Given the description of an element on the screen output the (x, y) to click on. 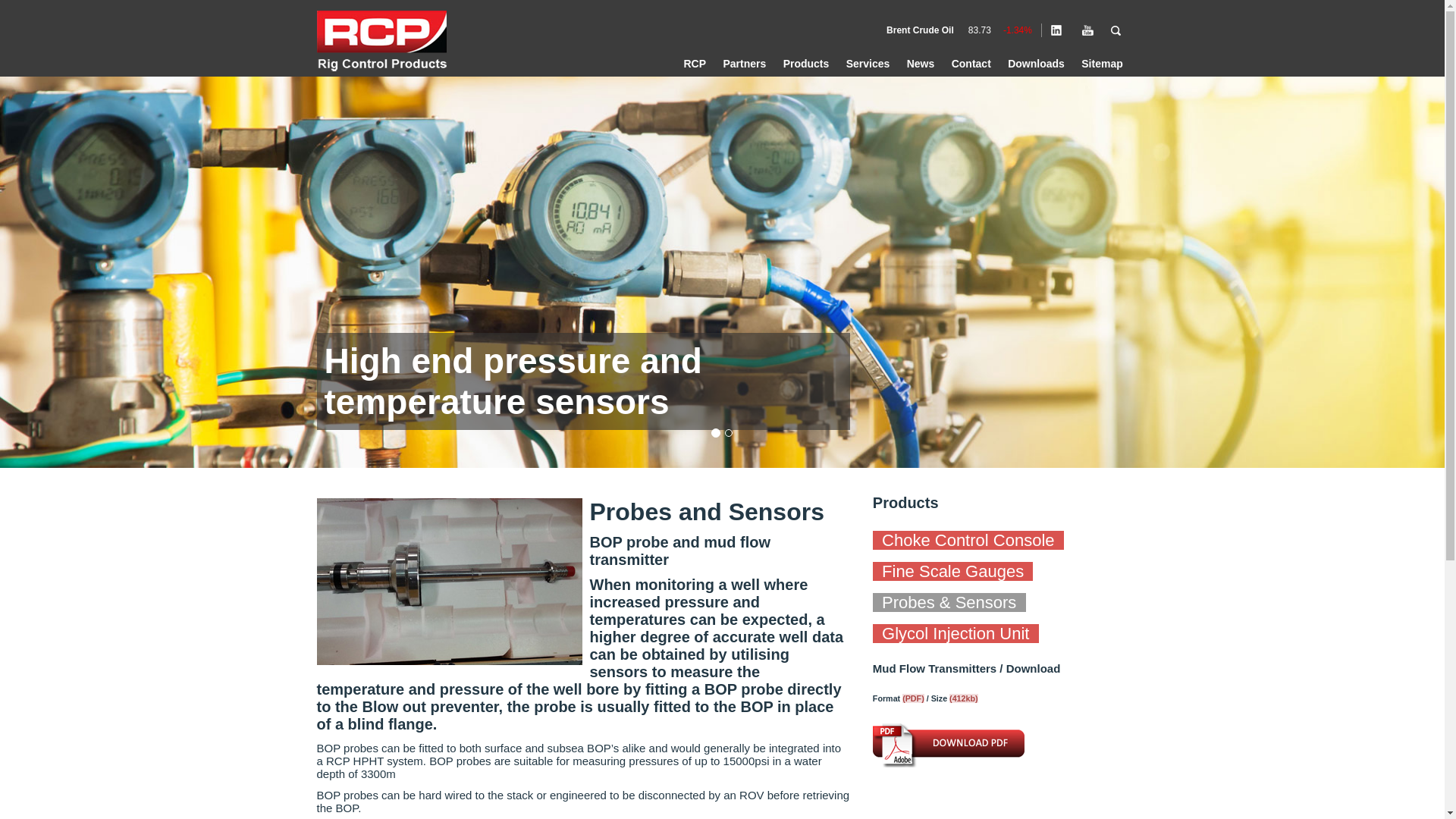
Products (804, 63)
Brent Crude Oil (919, 30)
Partners (743, 63)
website (384, 43)
RCP (694, 63)
